Given the description of an element on the screen output the (x, y) to click on. 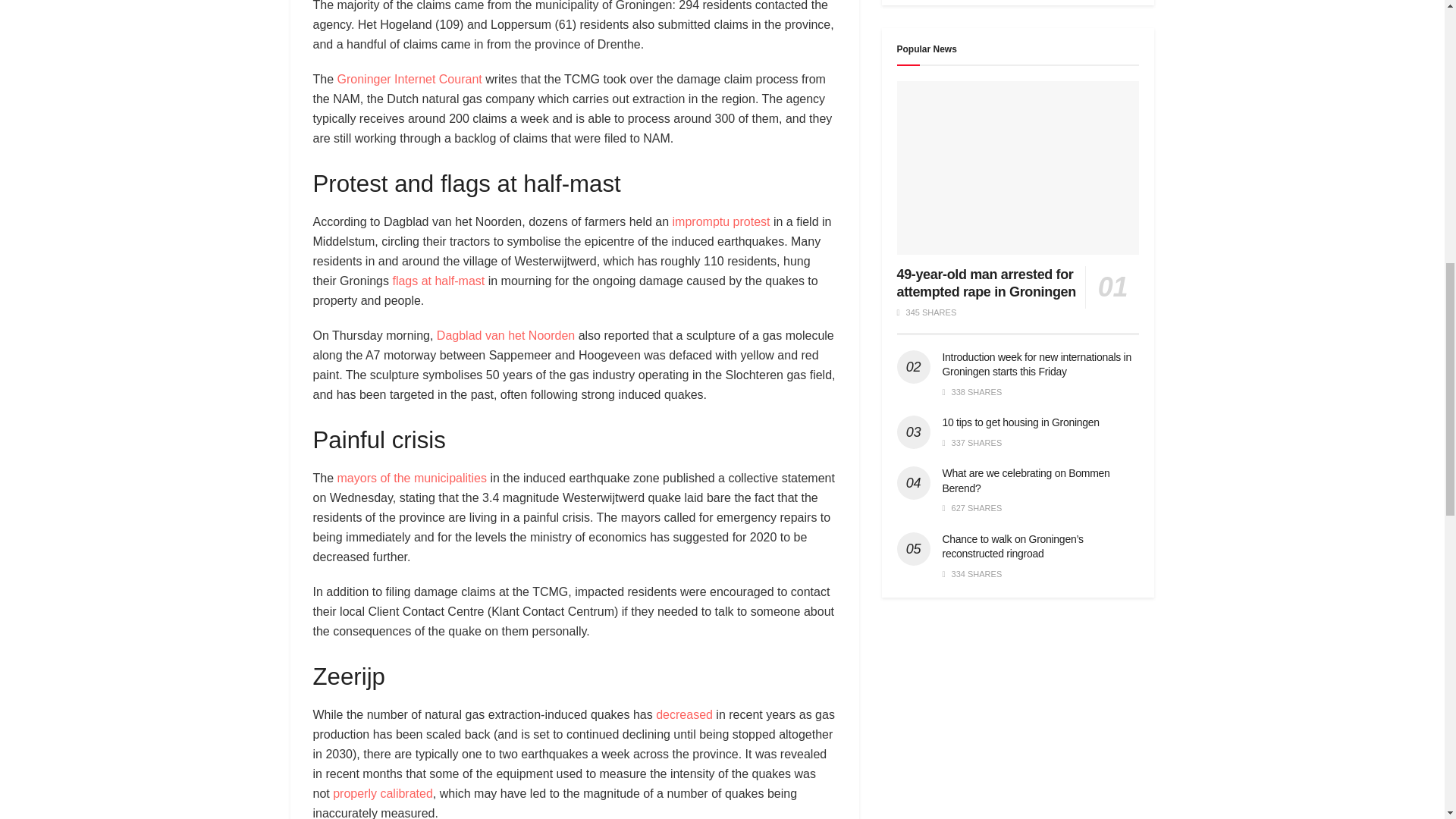
impromptu protest (721, 221)
Dagblad van het Noorden (505, 335)
Groninger Internet Courant (409, 78)
flags at half-mast (437, 280)
mayors of the municipalities (411, 477)
